Given the description of an element on the screen output the (x, y) to click on. 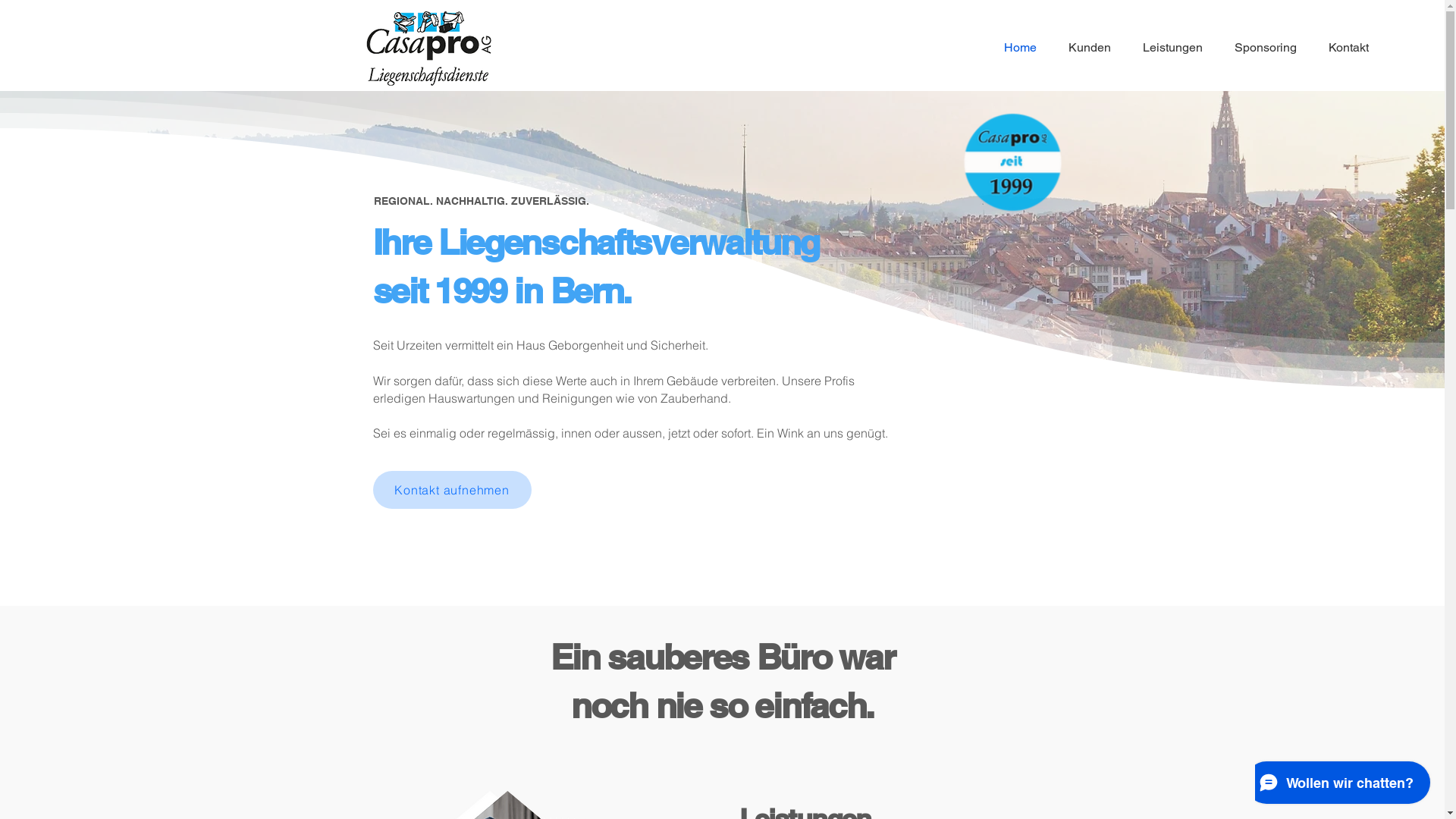
Home Element type: text (1015, 47)
Kunden Element type: text (1085, 47)
Leistungen Element type: text (1168, 47)
Sponsoring Element type: text (1261, 47)
Kontakt aufnehmen Element type: text (452, 489)
Kontakt Element type: text (1344, 47)
